Given the description of an element on the screen output the (x, y) to click on. 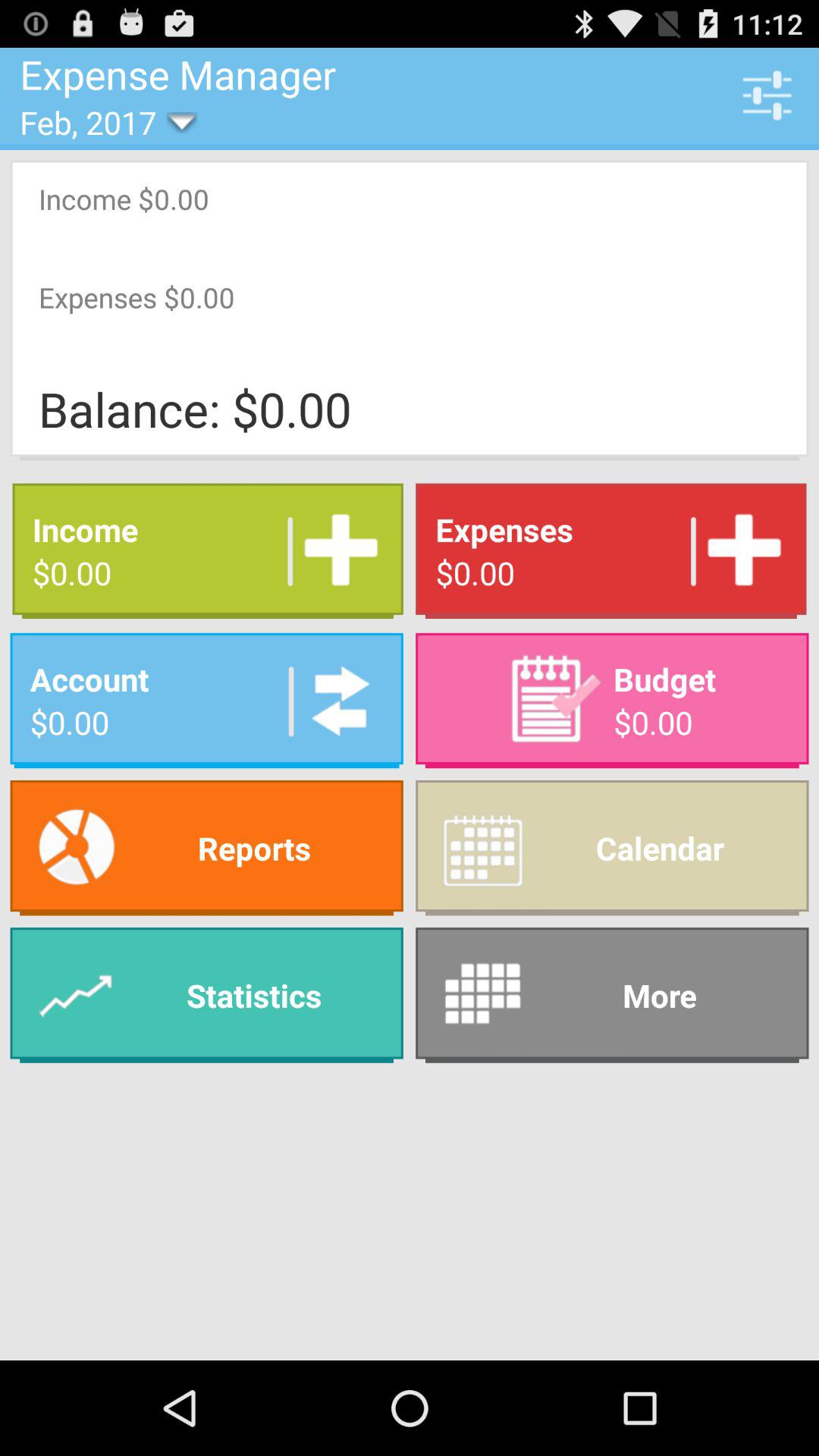
open icon next to the calendar app (206, 994)
